Given the description of an element on the screen output the (x, y) to click on. 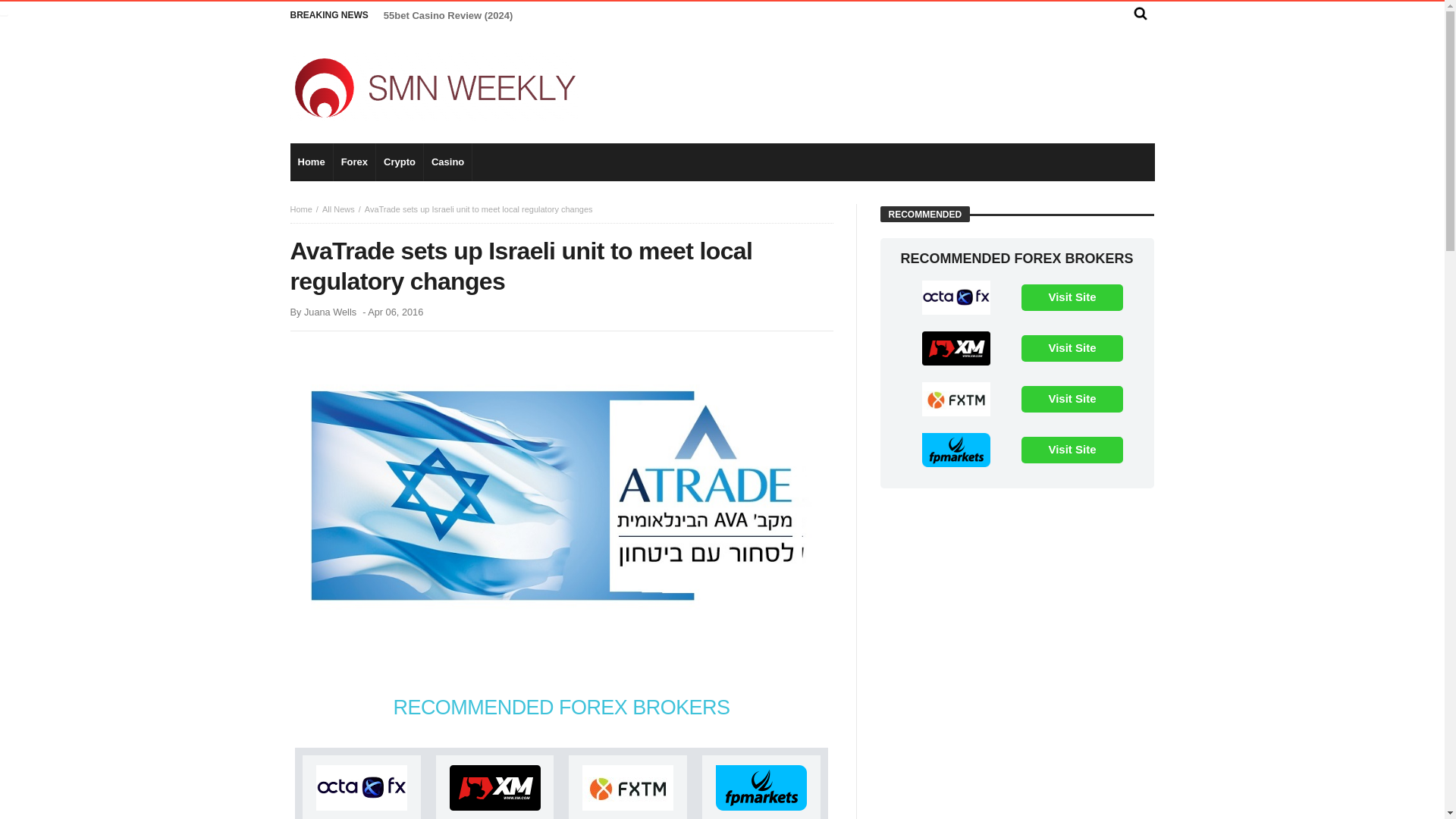
Casino (447, 161)
Forex (354, 161)
All News (338, 208)
Home (300, 208)
Home (311, 161)
Crypto (399, 161)
